Given the description of an element on the screen output the (x, y) to click on. 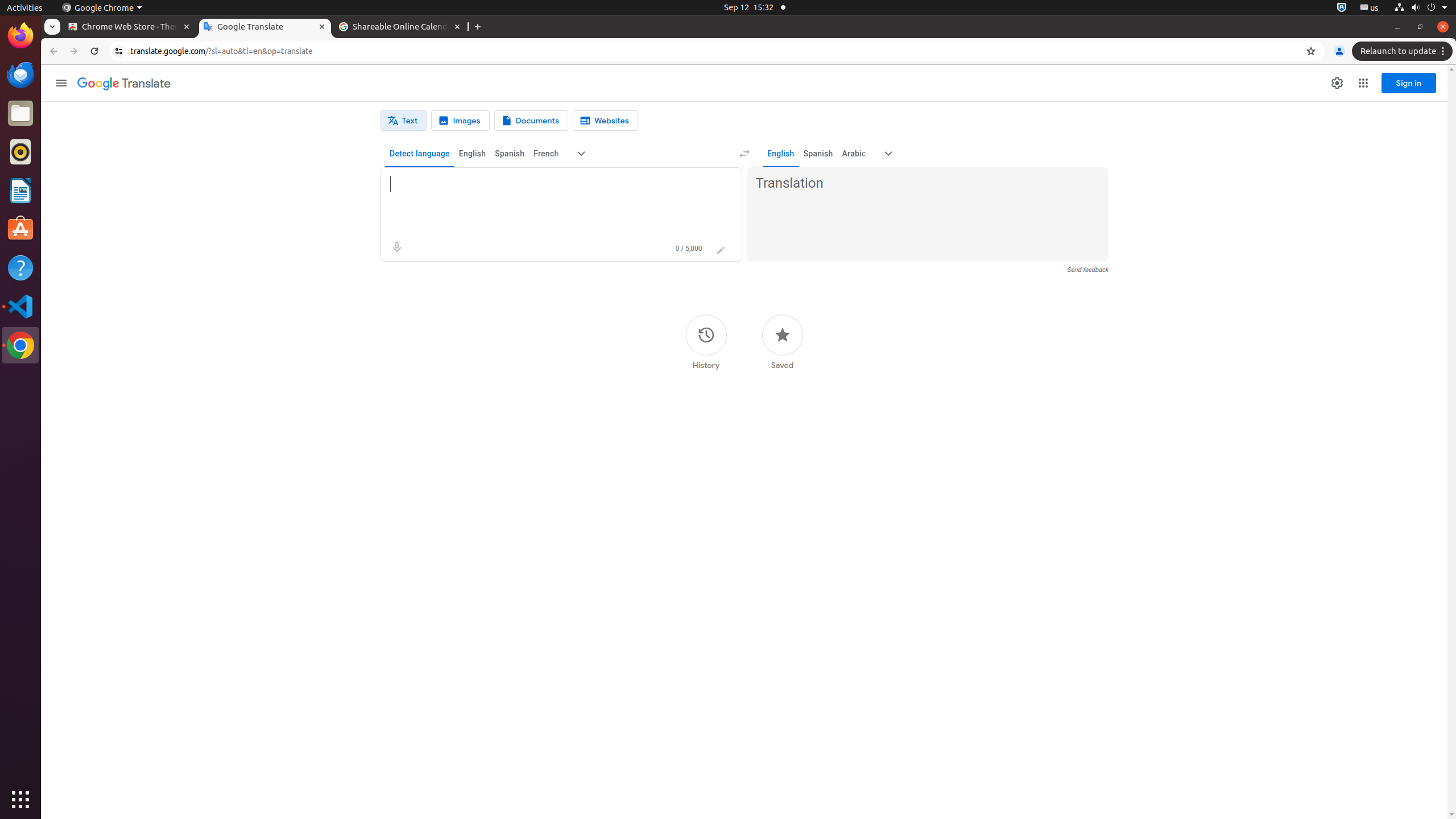
Reload Element type: push-button (94, 50)
Relaunch to update Element type: push-button (1403, 50)
New Tab Element type: push-button (477, 26)
Document translation Element type: push-button (530, 120)
Settings Element type: push-button (1336, 82)
